Given the description of an element on the screen output the (x, y) to click on. 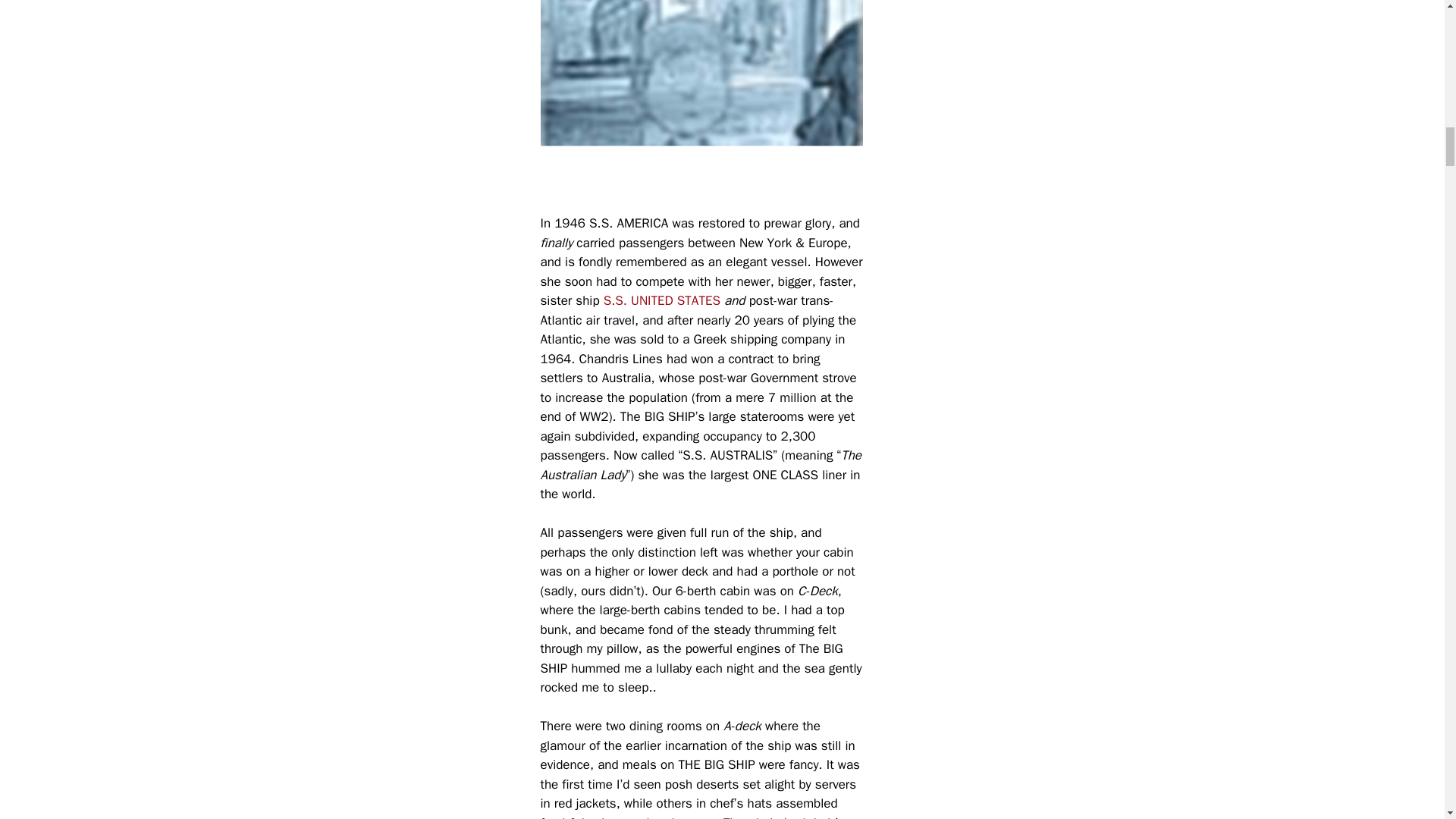
S.S. UNITED STATES (662, 300)
